Given the description of an element on the screen output the (x, y) to click on. 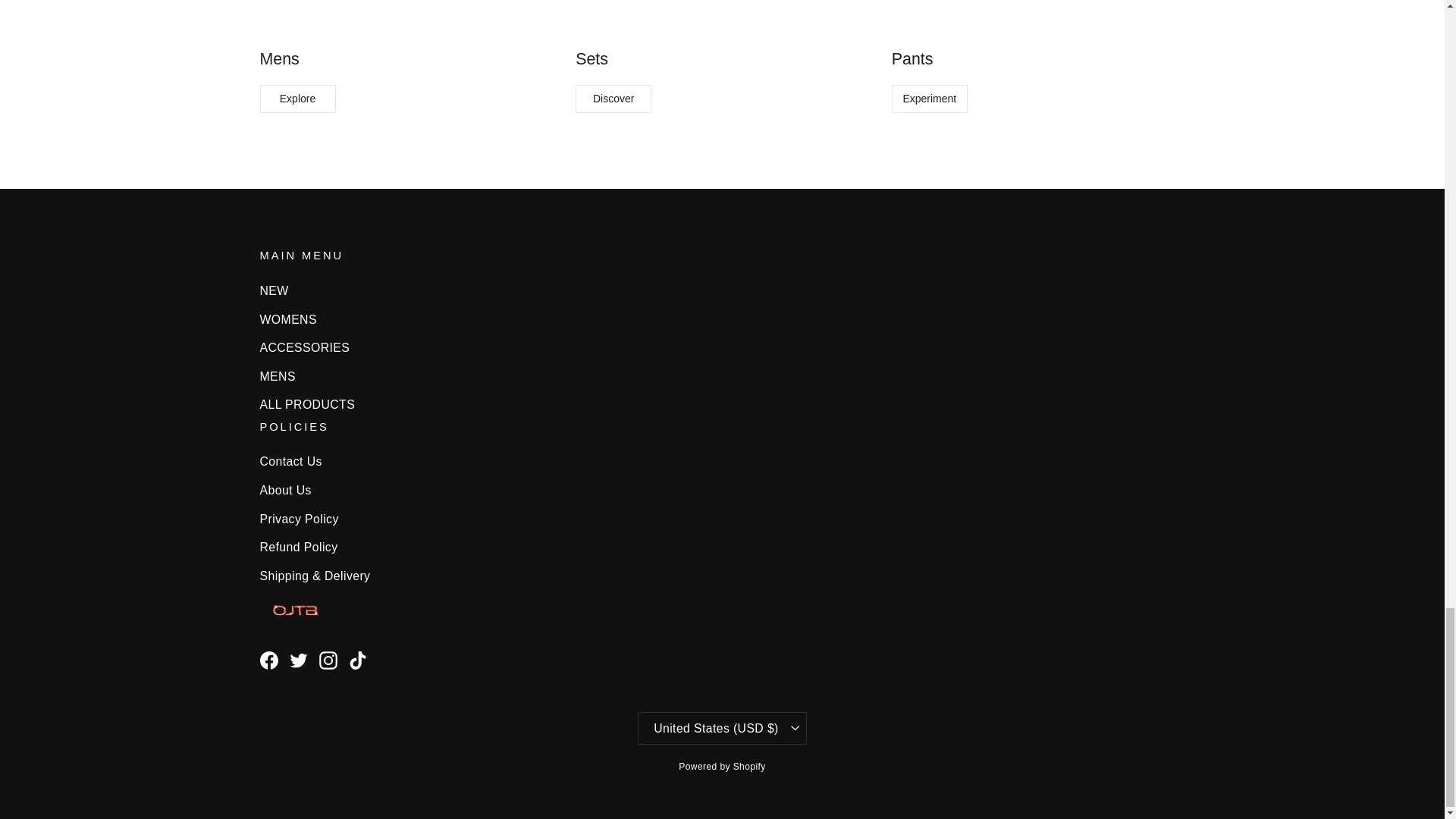
orangejuicethebrand on Twitter (298, 660)
orangejuicethebrand on TikTok (357, 660)
orangejuicethebrand on Instagram (327, 660)
